Given the description of an element on the screen output the (x, y) to click on. 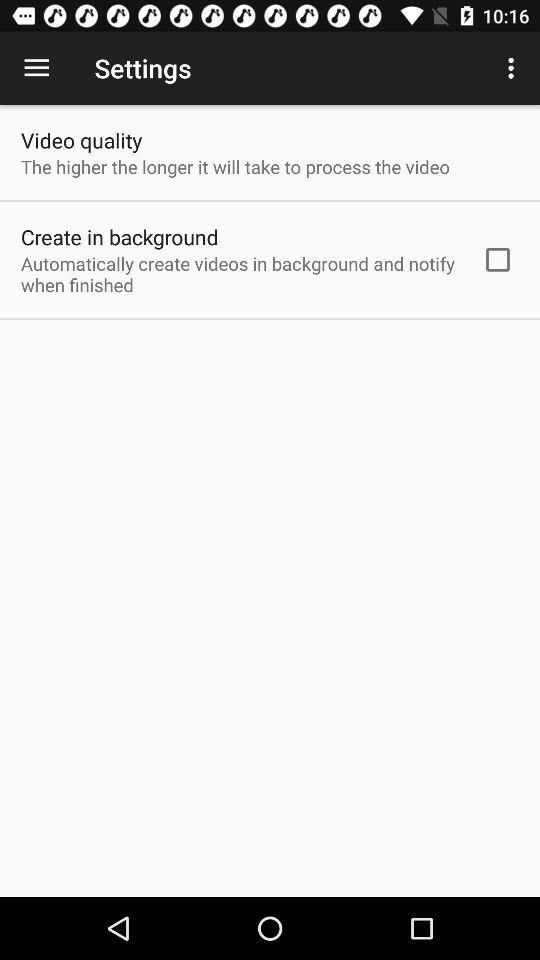
flip until the the higher the item (235, 166)
